Given the description of an element on the screen output the (x, y) to click on. 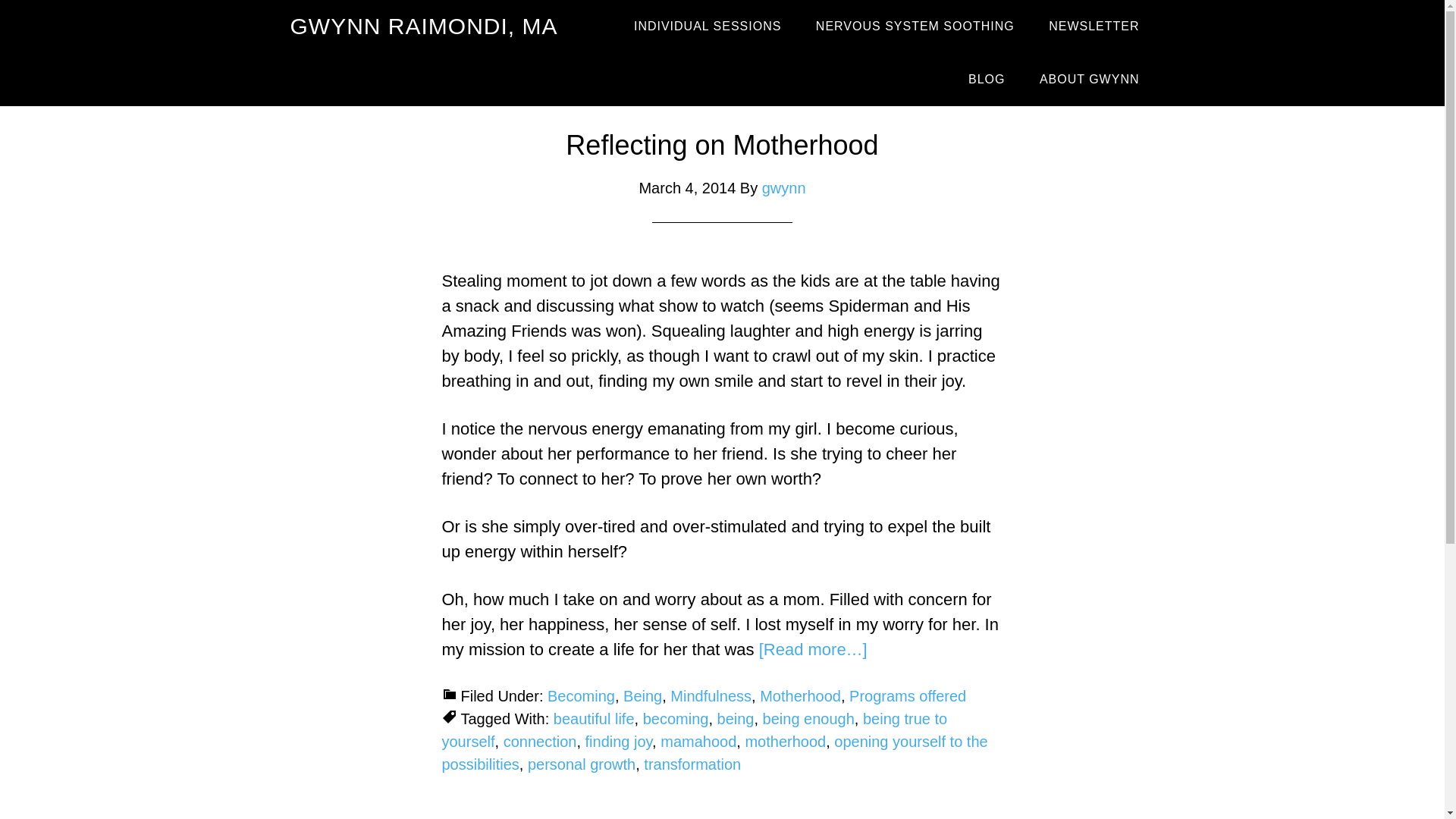
transformation (692, 764)
motherhood (784, 741)
beautiful life (593, 718)
gwynn (783, 187)
Motherhood (800, 695)
mamahood (698, 741)
Reflecting on Motherhood (721, 144)
opening yourself to the possibilities (714, 753)
NERVOUS SYSTEM SOOTHING (914, 26)
INDIVIDUAL SESSIONS (707, 26)
Becoming (580, 695)
Being (642, 695)
personal growth (580, 764)
NEWSLETTER (1093, 26)
being true to yourself (694, 730)
